Given the description of an element on the screen output the (x, y) to click on. 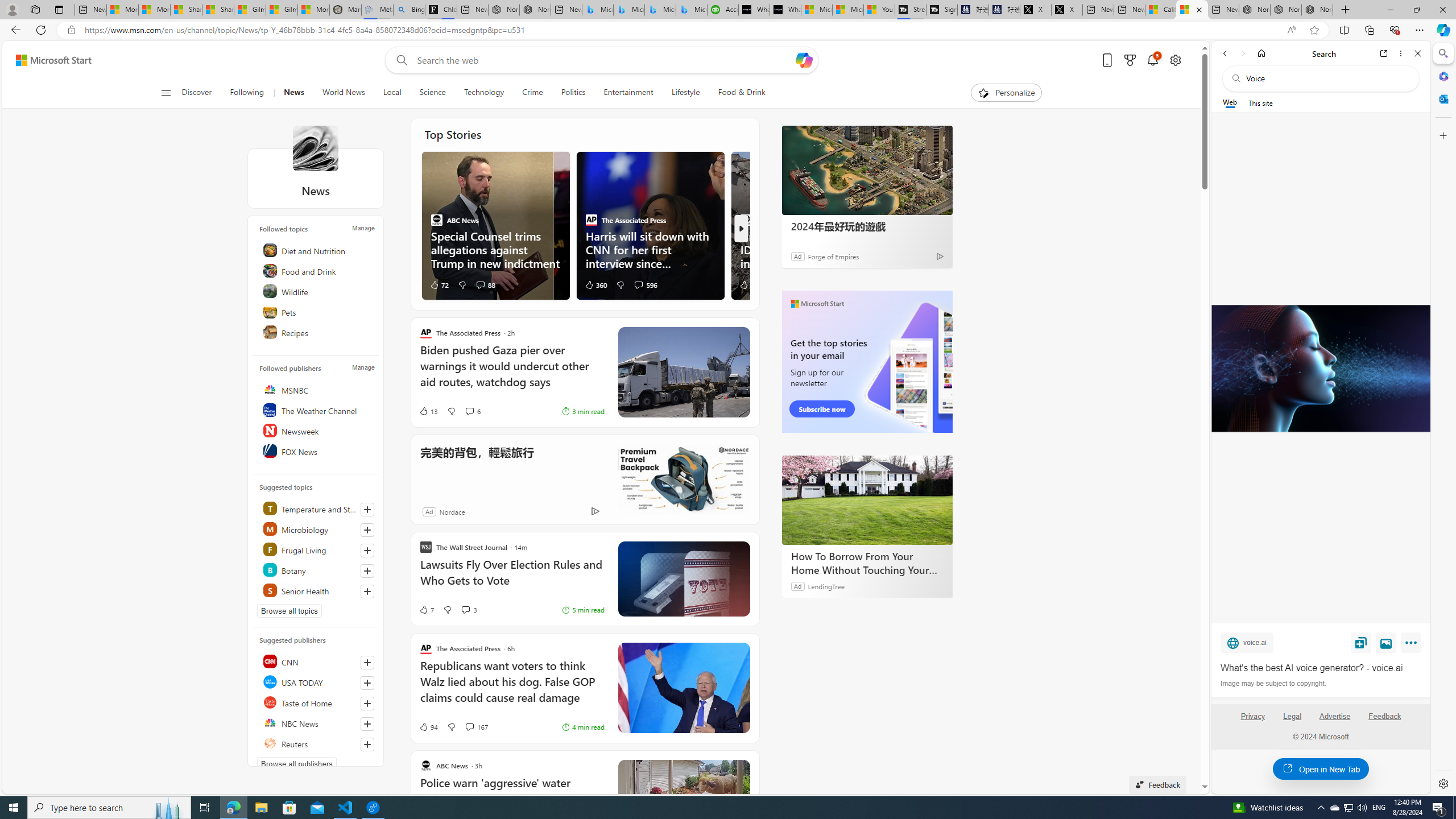
Open in New Tab (1321, 768)
Class: button-glyph (165, 92)
Search the web (1326, 78)
Advertise (1334, 720)
More options (1401, 53)
Ad (429, 511)
Open link in new tab (1383, 53)
View comments 88 Comment (480, 284)
View comments 596 Comment (645, 284)
